Given the description of an element on the screen output the (x, y) to click on. 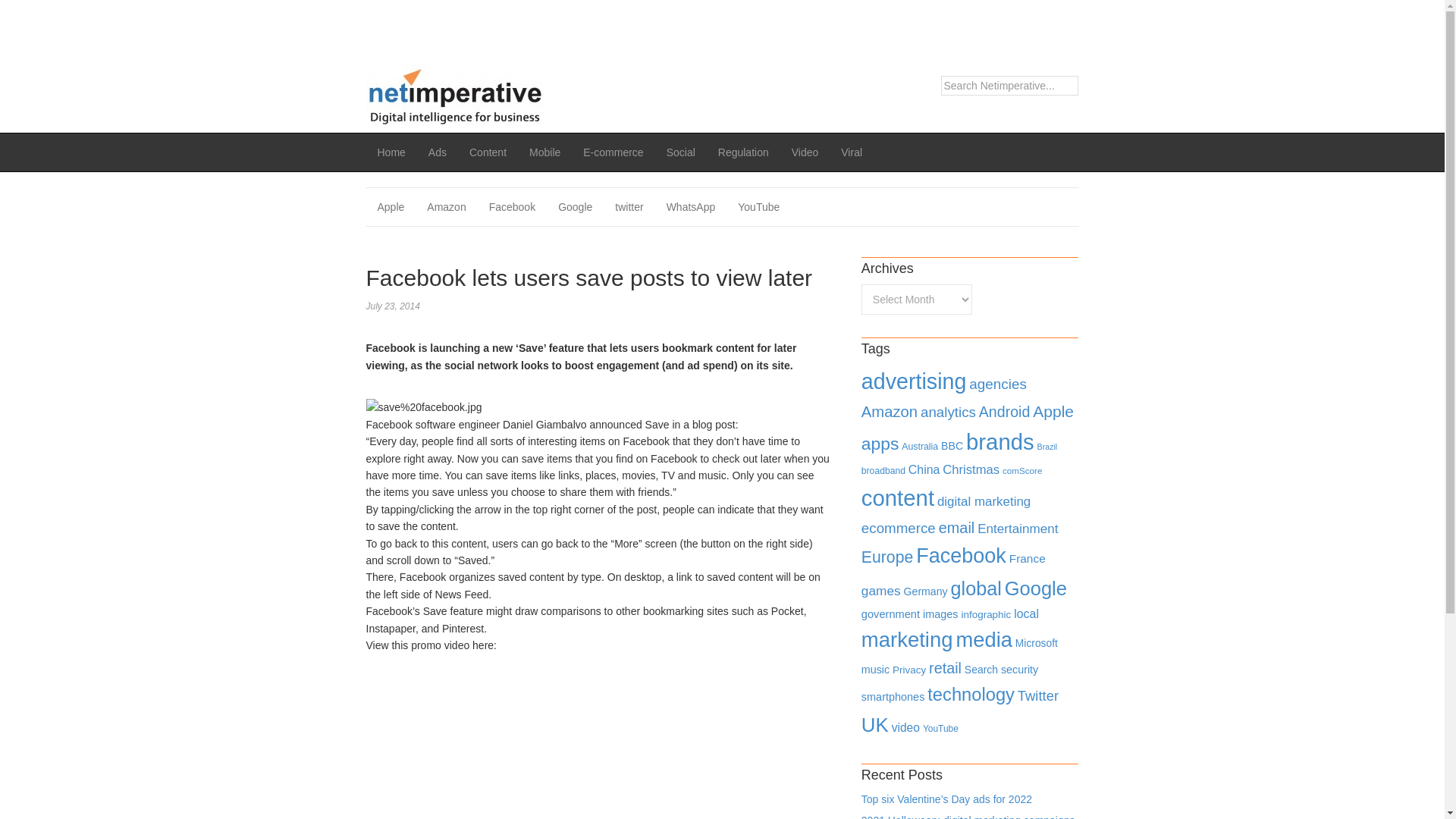
Brazil (1047, 446)
YouTube (758, 207)
twitter (628, 207)
Apple (389, 207)
Google (575, 207)
Amazon (445, 207)
Mobile (545, 152)
Facebook (512, 207)
analytics (947, 412)
broadband (883, 470)
Social (680, 152)
Social (680, 152)
Mobile (545, 152)
